Given the description of an element on the screen output the (x, y) to click on. 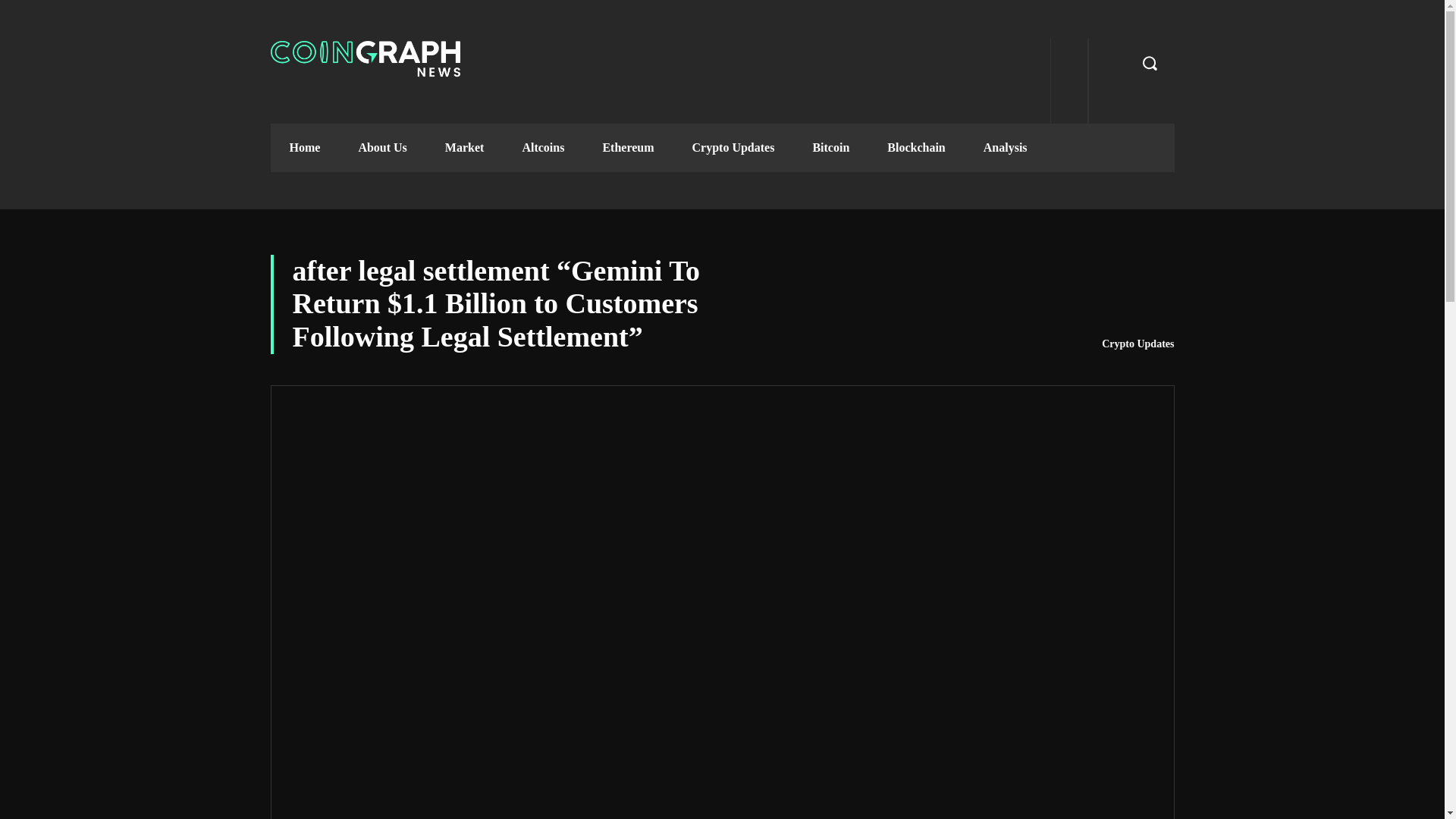
Crypto Updates (732, 147)
Analysis (1004, 147)
Bitcoin (830, 147)
Ethereum (627, 147)
About Us (382, 147)
Blockchain (915, 147)
Market (464, 147)
Altcoins (542, 147)
Crypto Updates (1137, 344)
Home (304, 147)
